Given the description of an element on the screen output the (x, y) to click on. 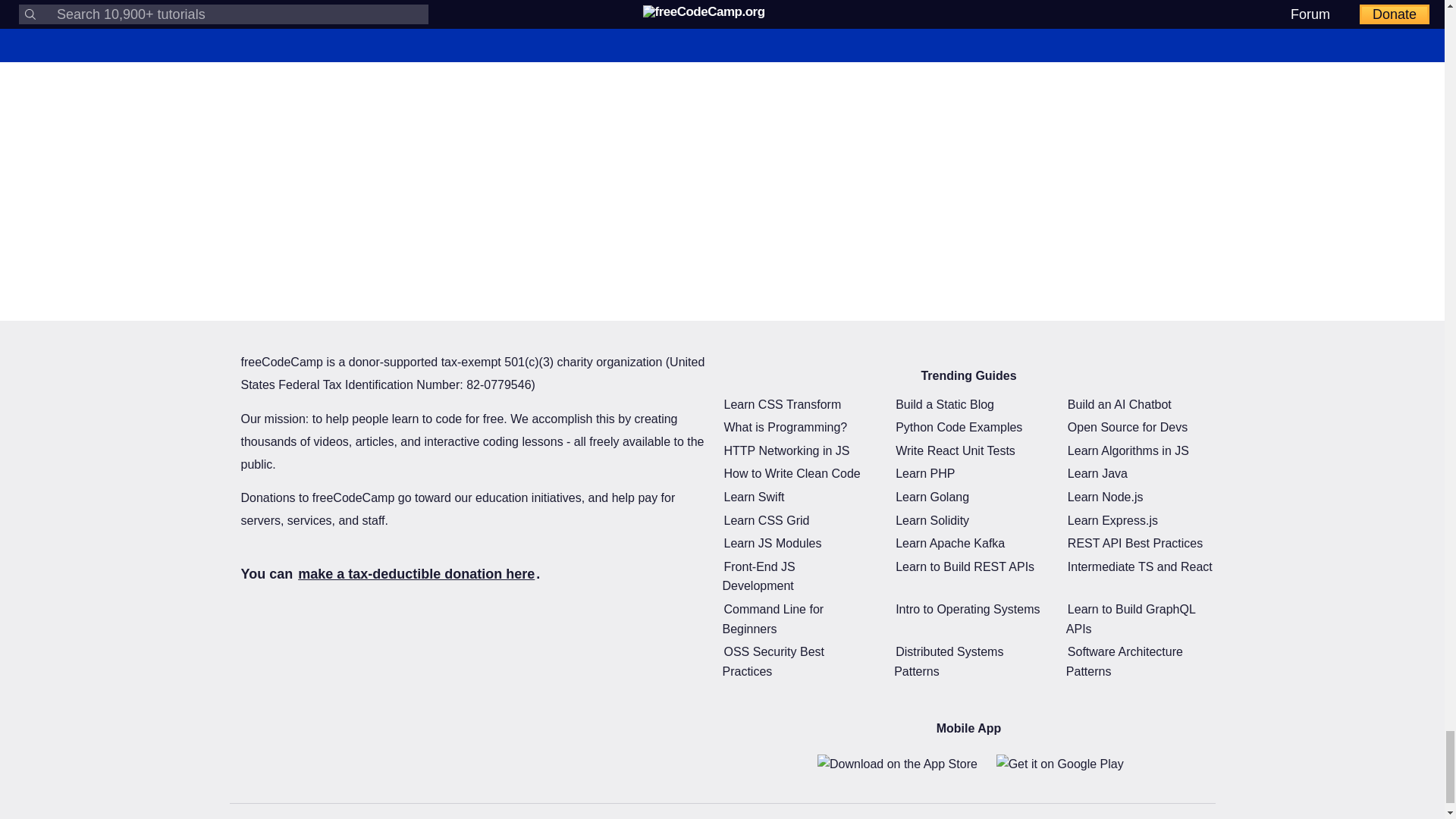
Open Source for Devs (1127, 426)
Learn Apache Kafka (949, 543)
Learn Solidity (932, 520)
Learn Golang (932, 496)
Learn Algorithms in JS (1128, 450)
Learn Node.js (1104, 496)
Learn Express.js (1111, 520)
Learn JS Modules (772, 543)
Learn Java (1097, 473)
Write React Unit Tests (954, 450)
Learn Swift (754, 496)
Learn CSS Grid (766, 520)
How to Write Clean Code (791, 473)
Learn PHP (924, 473)
Python Code Examples (958, 426)
